Given the description of an element on the screen output the (x, y) to click on. 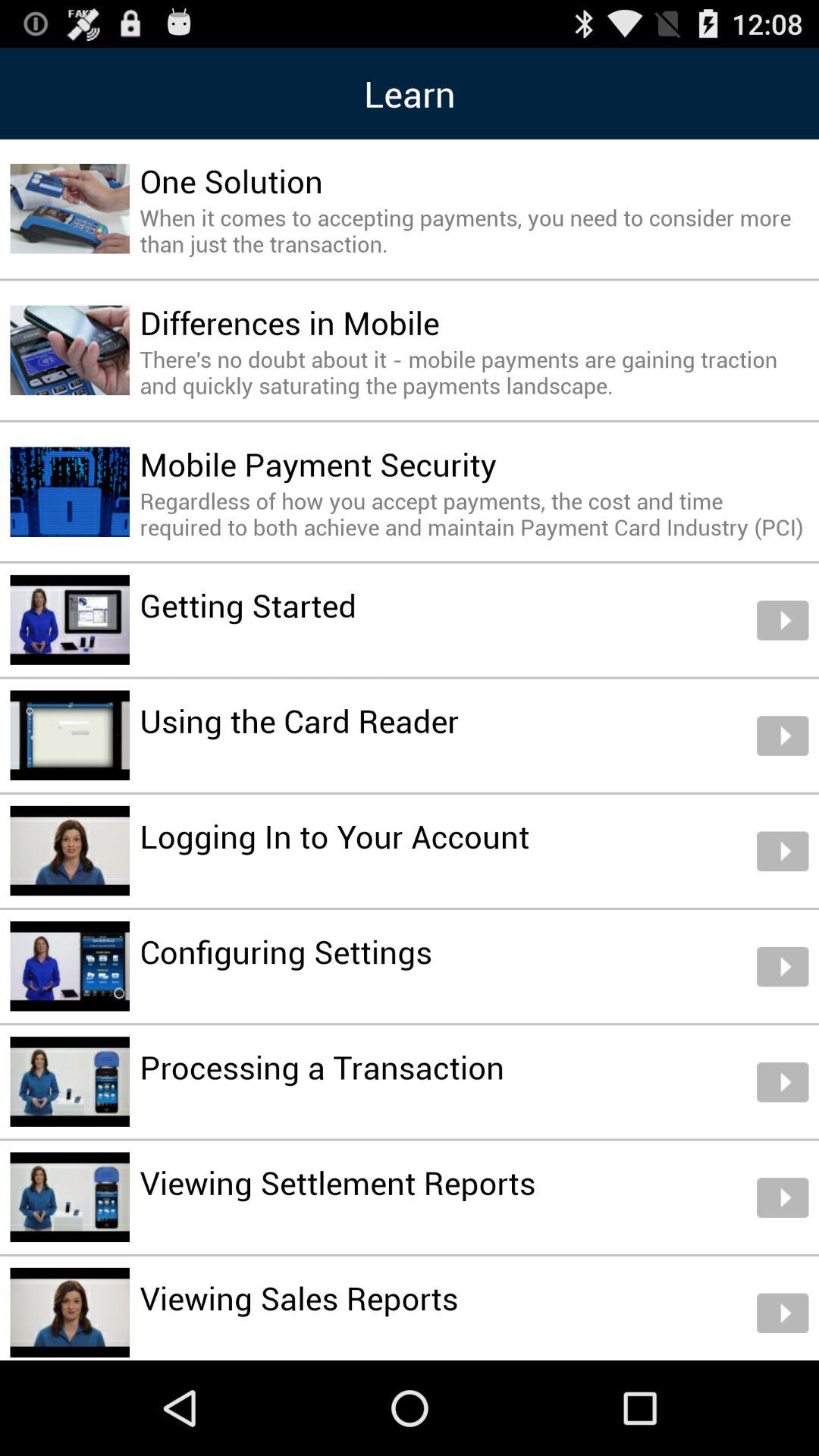
choose differences in mobile item (289, 322)
